Given the description of an element on the screen output the (x, y) to click on. 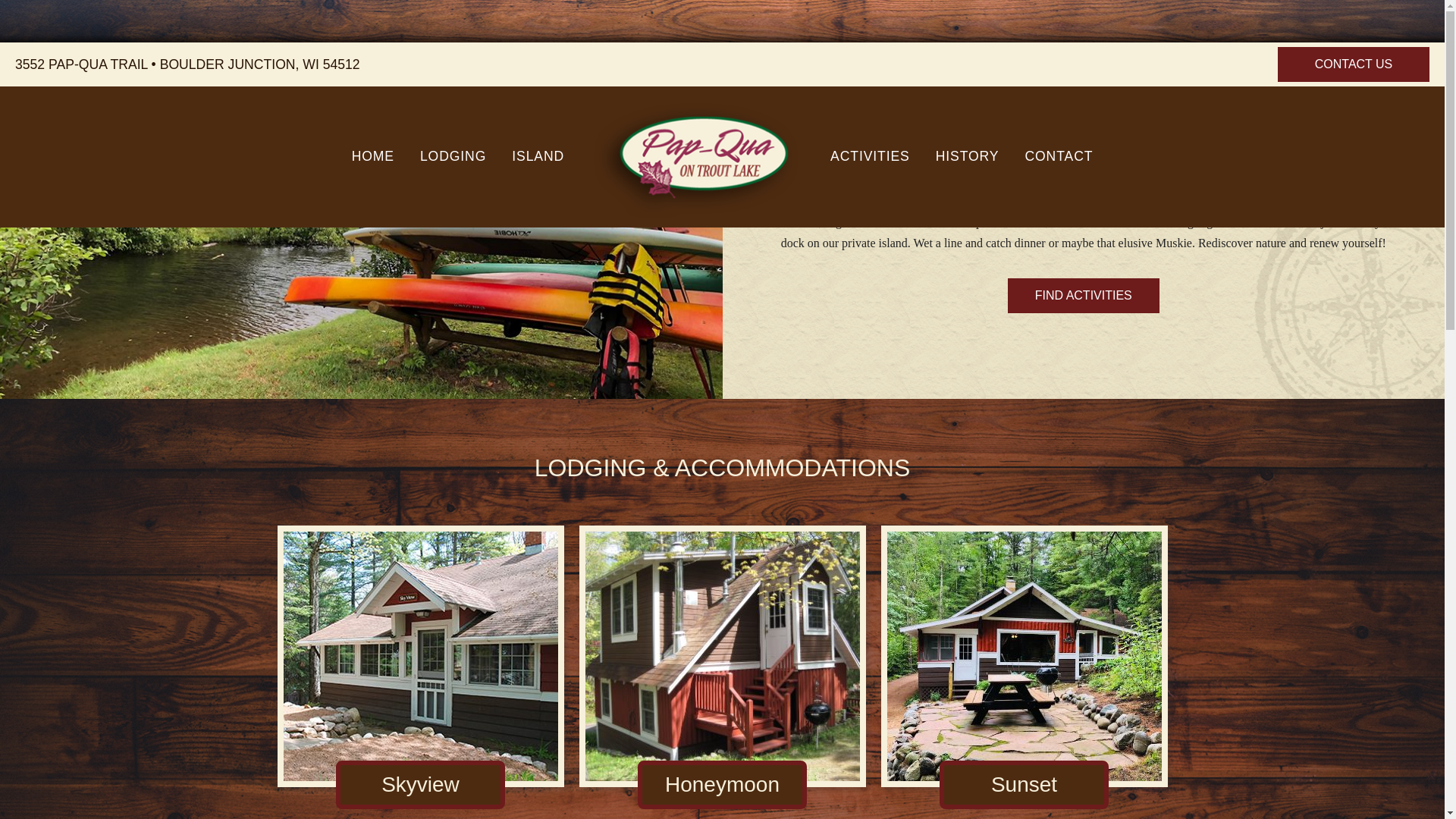
ISLAND (537, 156)
FIND ACTIVITIES (1082, 295)
HOME (373, 156)
Skyview (420, 784)
ACTIVITIES (869, 156)
HISTORY (967, 156)
CONTACT (1058, 156)
Honeymoon (721, 784)
CONTACT US (1353, 63)
Sunset (1023, 784)
LODGING (453, 156)
